Given the description of an element on the screen output the (x, y) to click on. 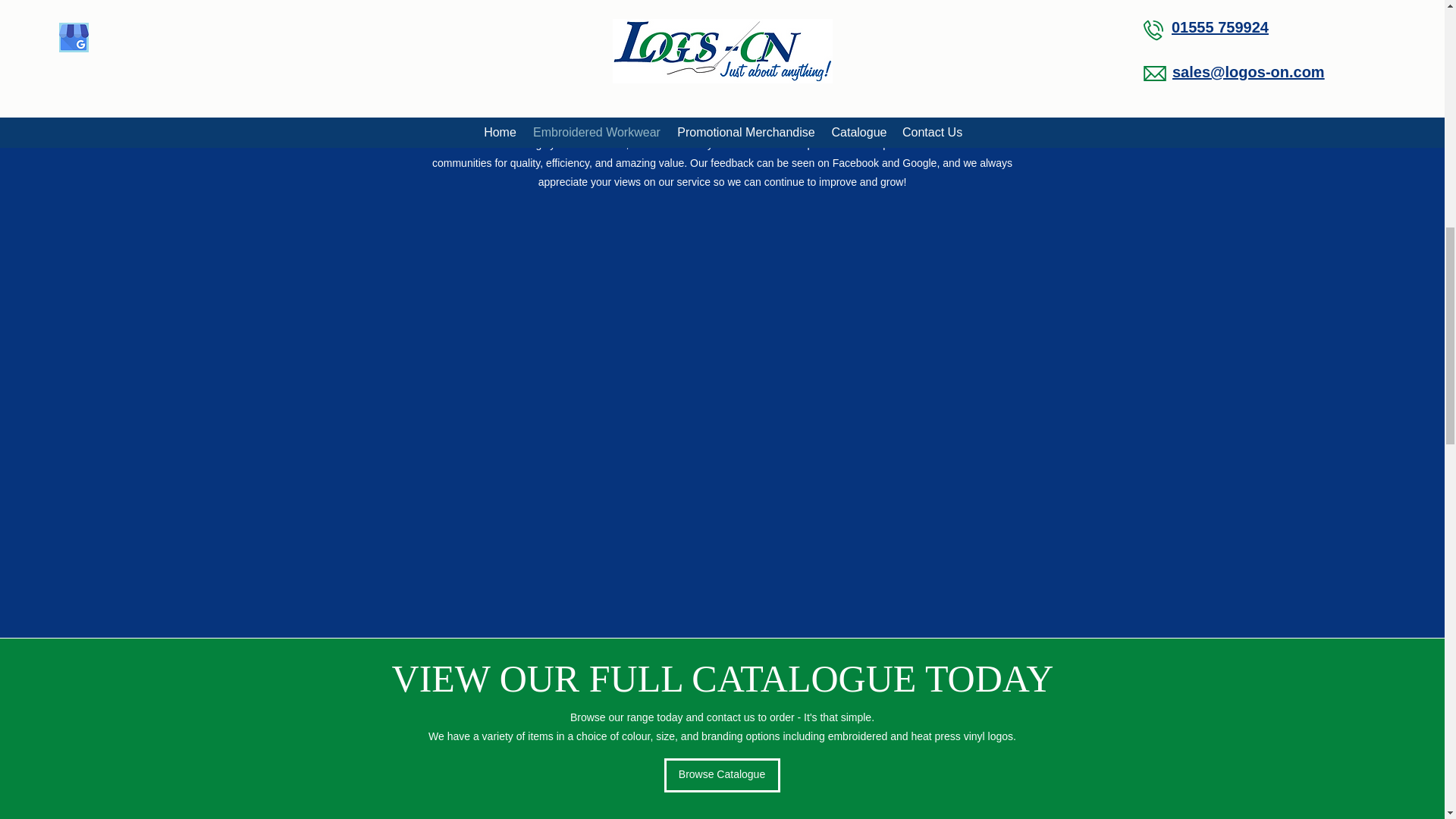
promotional business merchandise. (850, 10)
Browse Catalogue (721, 775)
View Catalogue (664, 50)
Contact Us (779, 50)
